Given the description of an element on the screen output the (x, y) to click on. 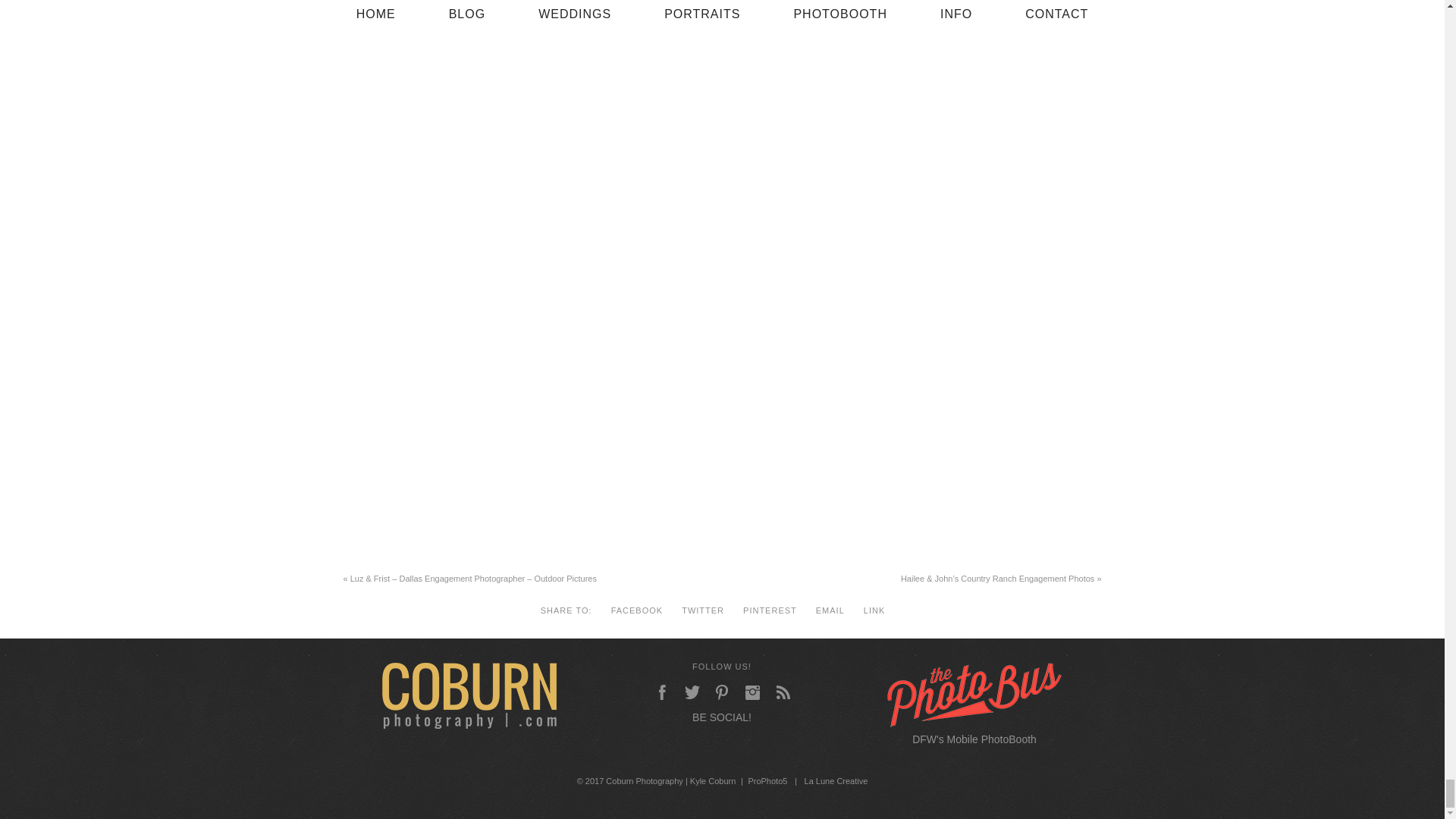
ProPhoto Photo Website (767, 780)
